Given the description of an element on the screen output the (x, y) to click on. 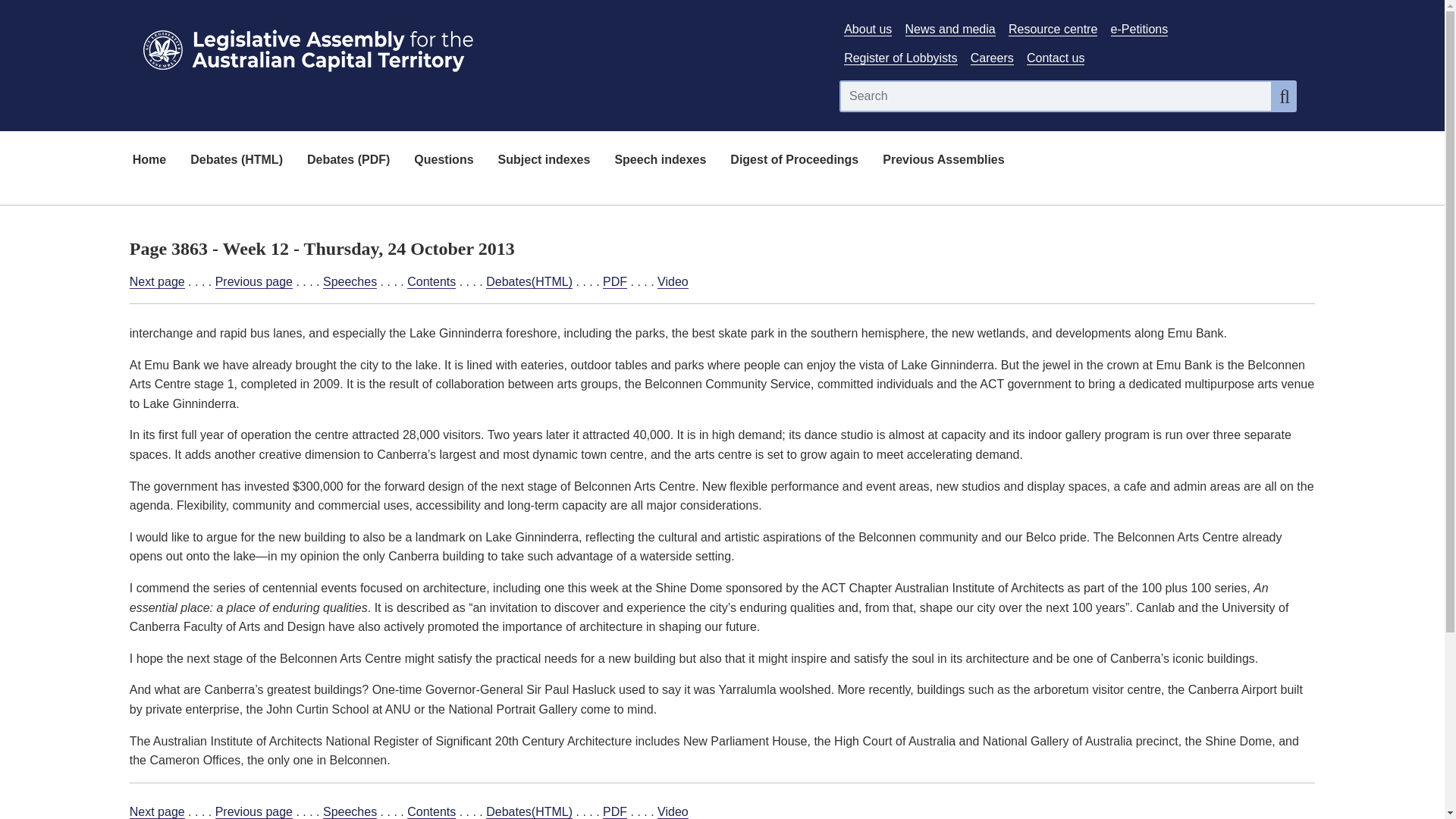
Speeches (350, 282)
Questions (442, 160)
Subject indexes (544, 160)
Link to About Us (867, 29)
Link to Careers (992, 58)
Video (673, 812)
Speeches (350, 812)
Link to News and media (950, 29)
News and media (950, 29)
Link to Register of Lobbyists (900, 58)
